Given the description of an element on the screen output the (x, y) to click on. 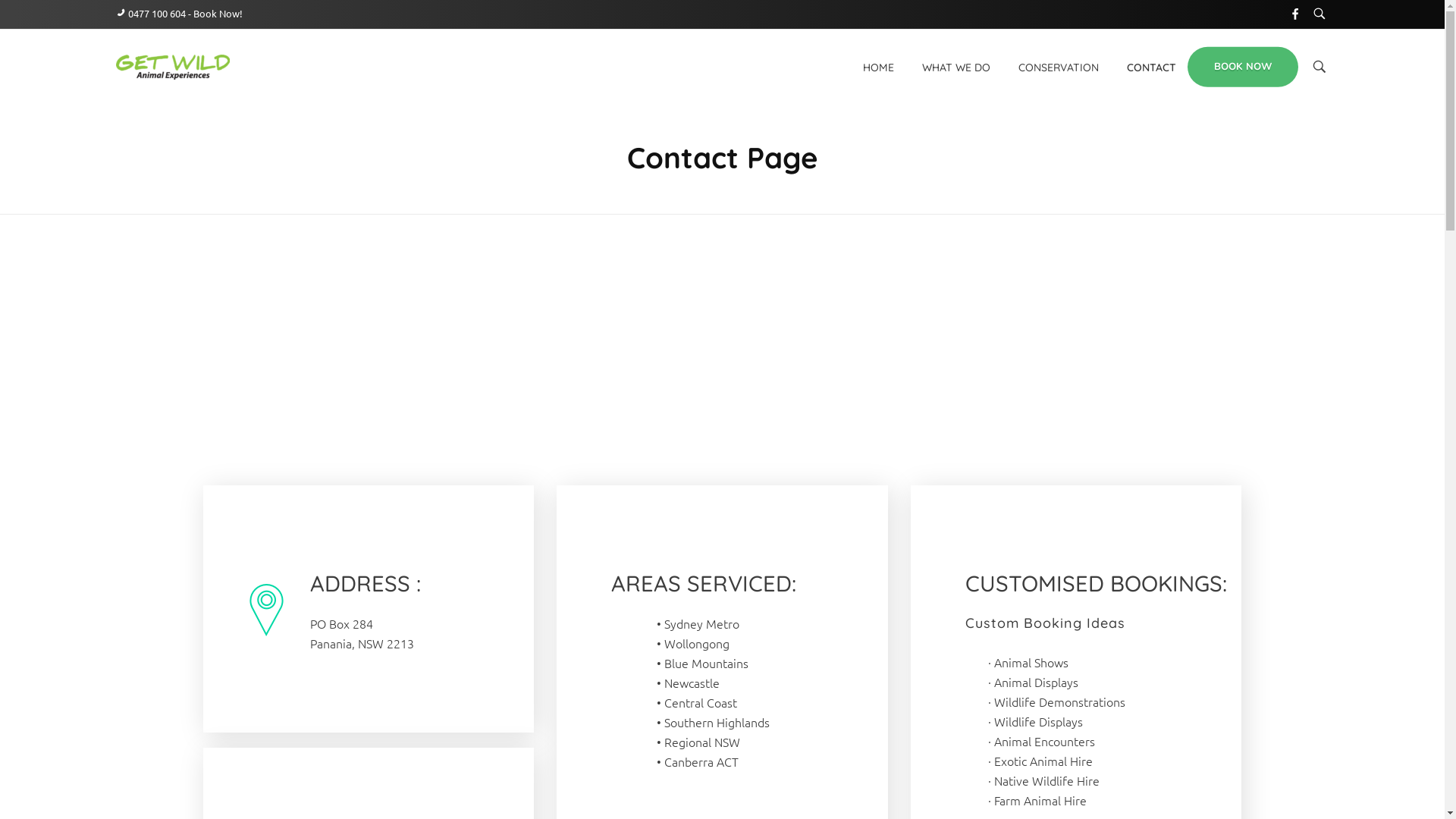
Get Wild! Animal Experiences Element type: text (234, 101)
BOOK NOW Element type: text (1242, 67)
0477 100 604 Element type: text (156, 12)
CONTACT Element type: text (1143, 67)
Book Now! Element type: text (216, 12)
HOME Element type: text (884, 67)
WHAT WE DO Element type: text (956, 67)
CONSERVATION Element type: text (1058, 67)
